Given the description of an element on the screen output the (x, y) to click on. 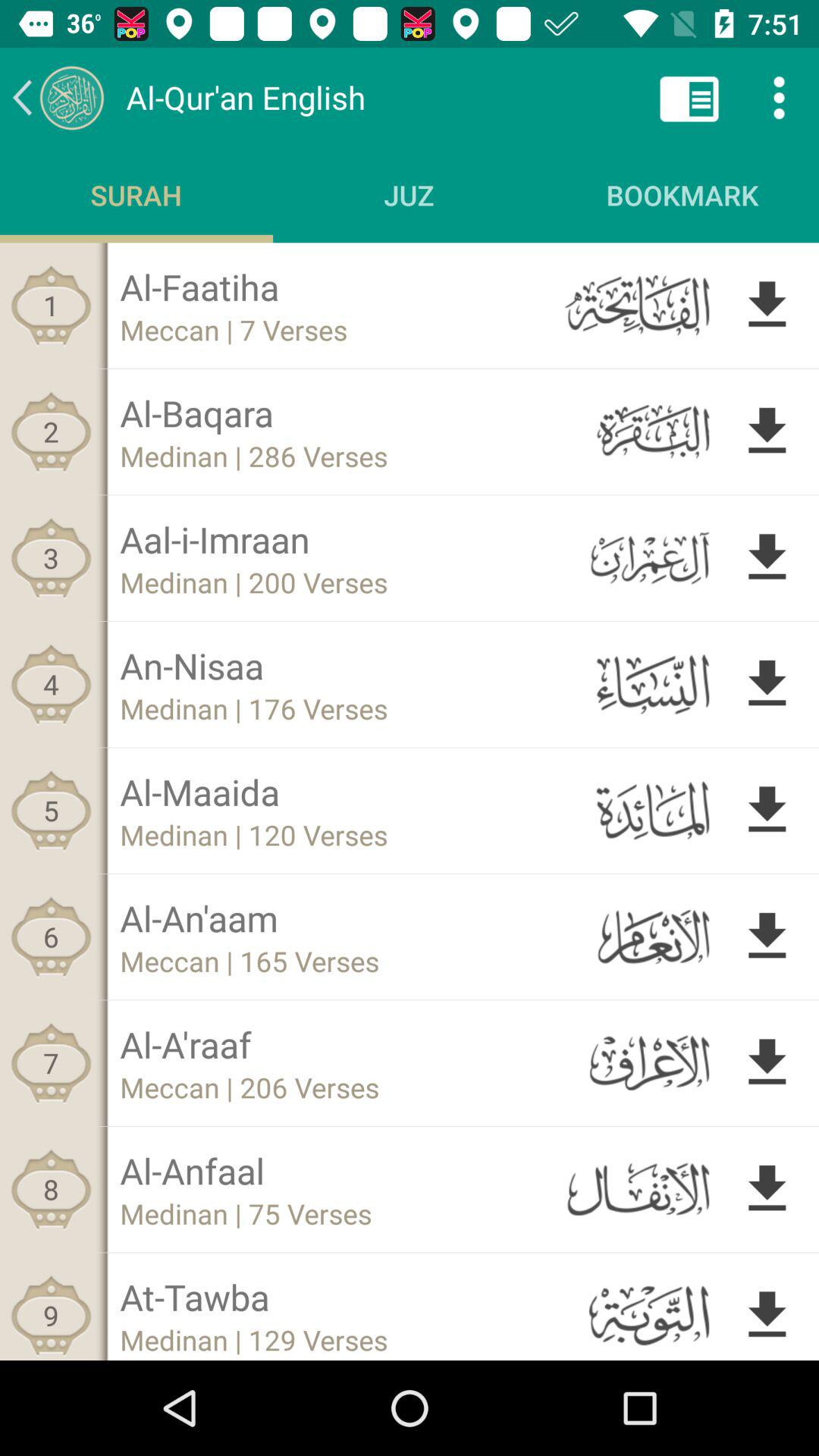
go to download (767, 557)
